Given the description of an element on the screen output the (x, y) to click on. 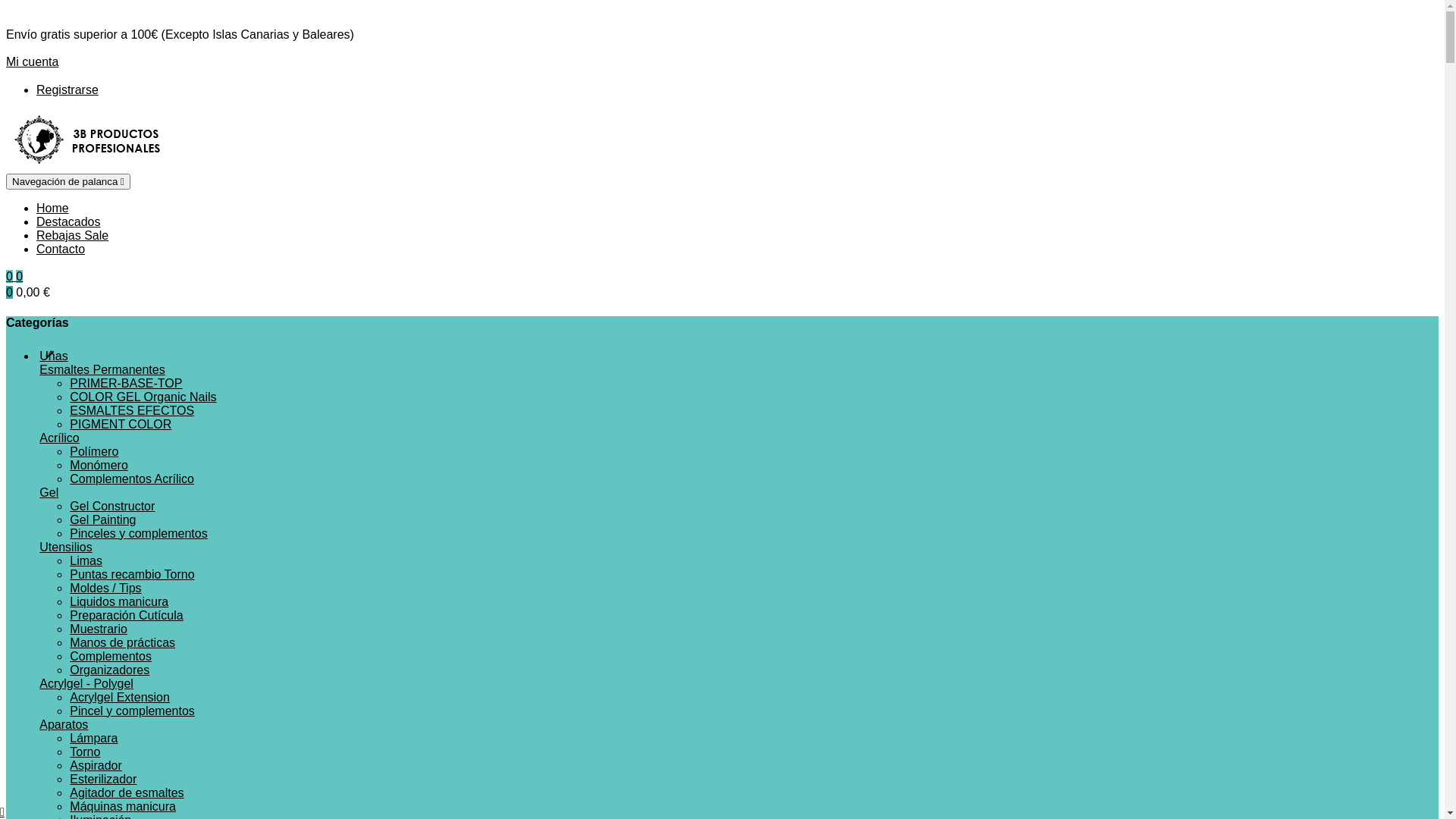
Esterilizador Element type: text (102, 778)
Pincel y complementos Element type: text (131, 710)
COLOR GEL Organic Nails Element type: text (142, 396)
Contacto Element type: text (60, 248)
Gel Element type: text (48, 492)
Gel Constructor Element type: text (111, 505)
Puntas recambio Torno Element type: text (131, 573)
Acrylgel - Polygel Element type: text (86, 683)
Registrarse Element type: text (67, 89)
PRIMER-BASE-TOP Element type: text (125, 382)
Gel Painting Element type: text (102, 519)
ESMALTES EFECTOS Element type: text (131, 410)
Moldes / Tips Element type: text (105, 587)
Esmaltes Permanentes Element type: text (101, 369)
Acrylgel Extension Element type: text (119, 696)
Complementos Element type: text (110, 655)
Liquidos manicura Element type: text (118, 601)
Utensilios Element type: text (65, 546)
Muestrario Element type: text (98, 628)
Torno Element type: text (84, 751)
Limas Element type: text (85, 560)
Home Element type: text (52, 207)
Pinceles y complementos Element type: text (138, 533)
Rebajas Sale Element type: text (72, 235)
Destacados Element type: text (68, 221)
0 Element type: text (18, 275)
Aparatos Element type: text (63, 724)
Organizadores Element type: text (109, 669)
0 Element type: text (10, 275)
Aspirador Element type: text (95, 765)
Agitador de esmaltes Element type: text (126, 792)
PIGMENT COLOR Element type: text (120, 423)
Mi cuenta Element type: text (32, 61)
